Given the description of an element on the screen output the (x, y) to click on. 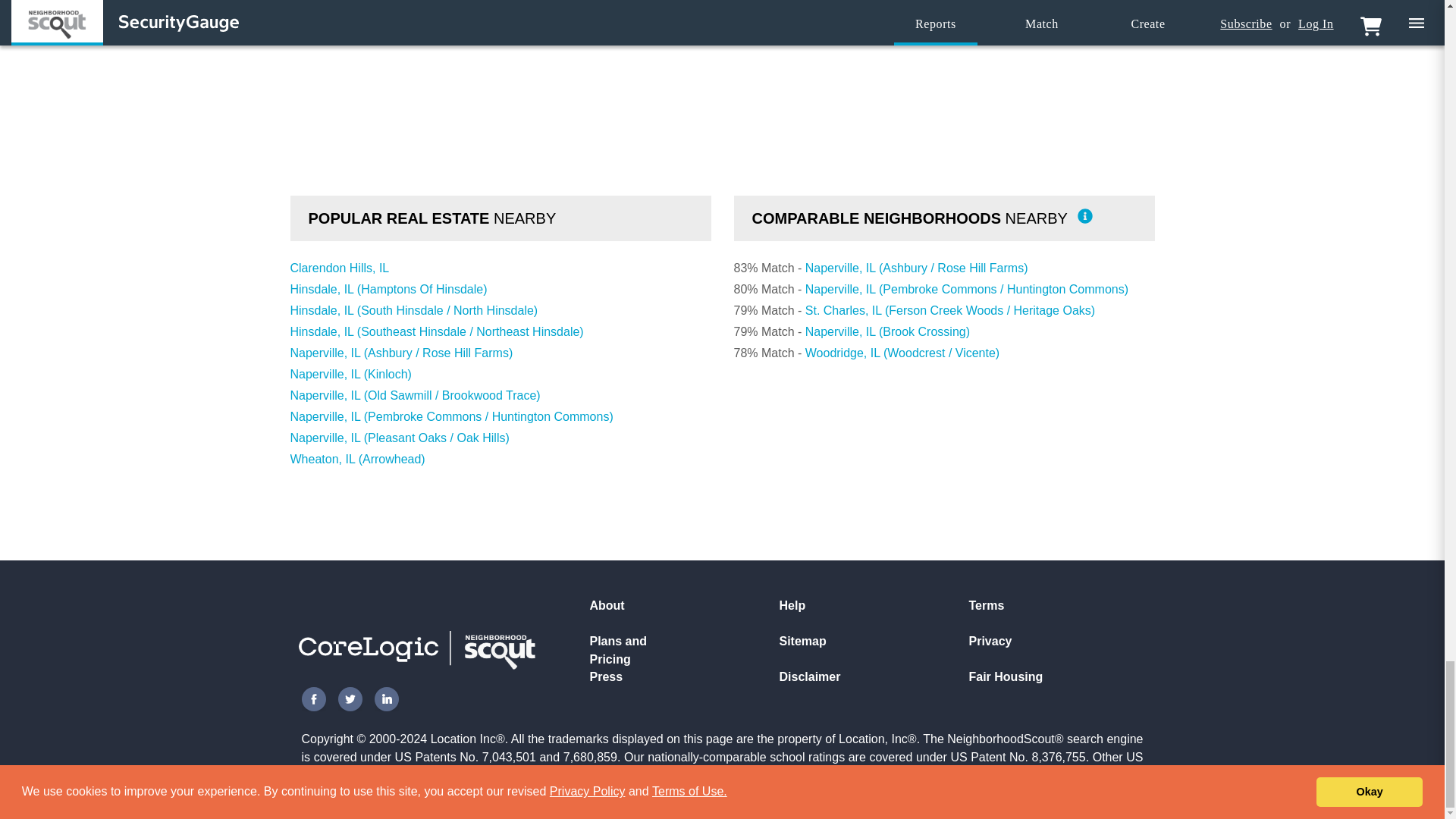
3rd party ad content (721, 8)
